Given the description of an element on the screen output the (x, y) to click on. 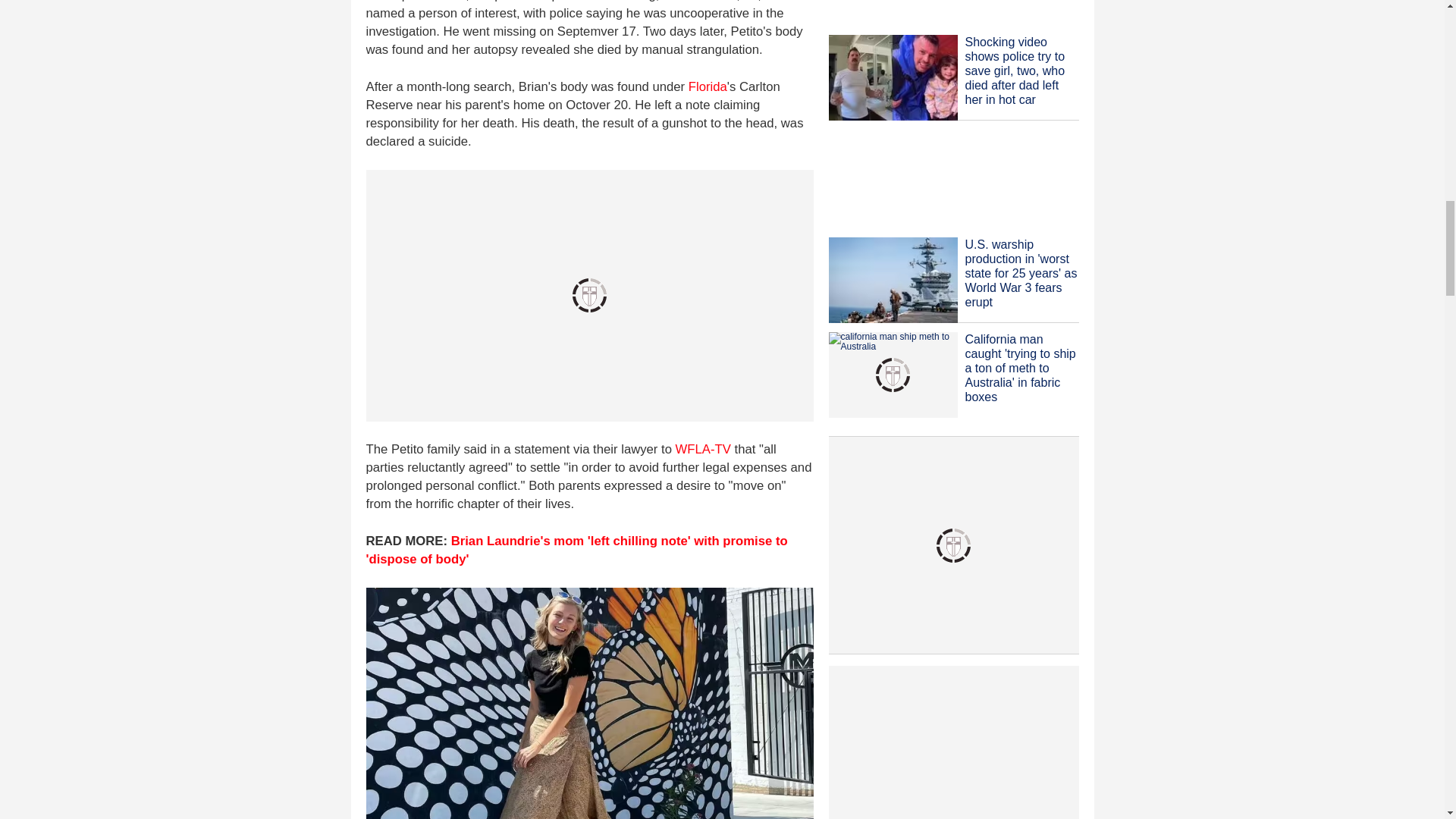
WFLA-TV (702, 449)
Florida (707, 86)
